Given the description of an element on the screen output the (x, y) to click on. 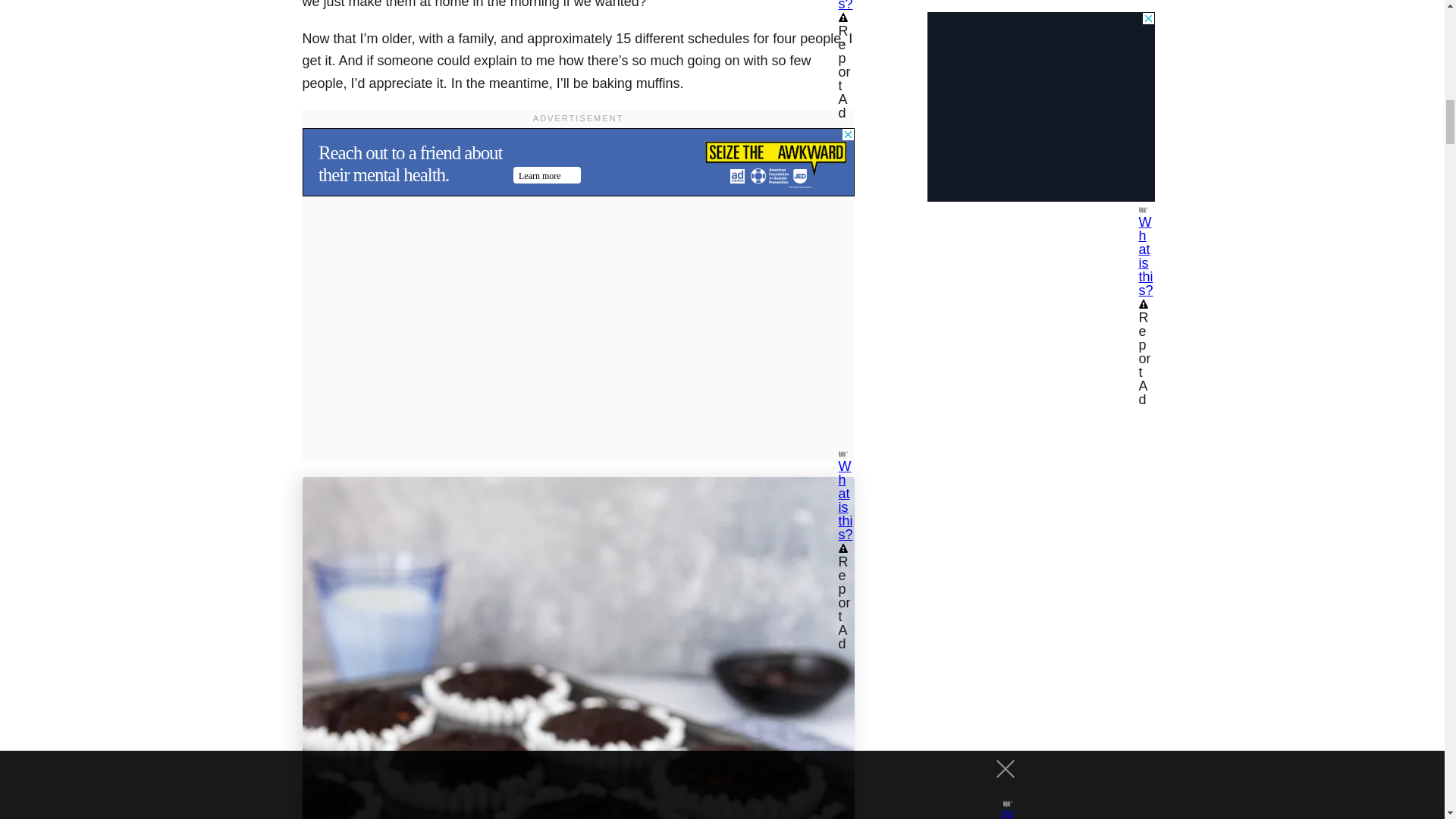
3rd party ad content (577, 161)
